Given the description of an element on the screen output the (x, y) to click on. 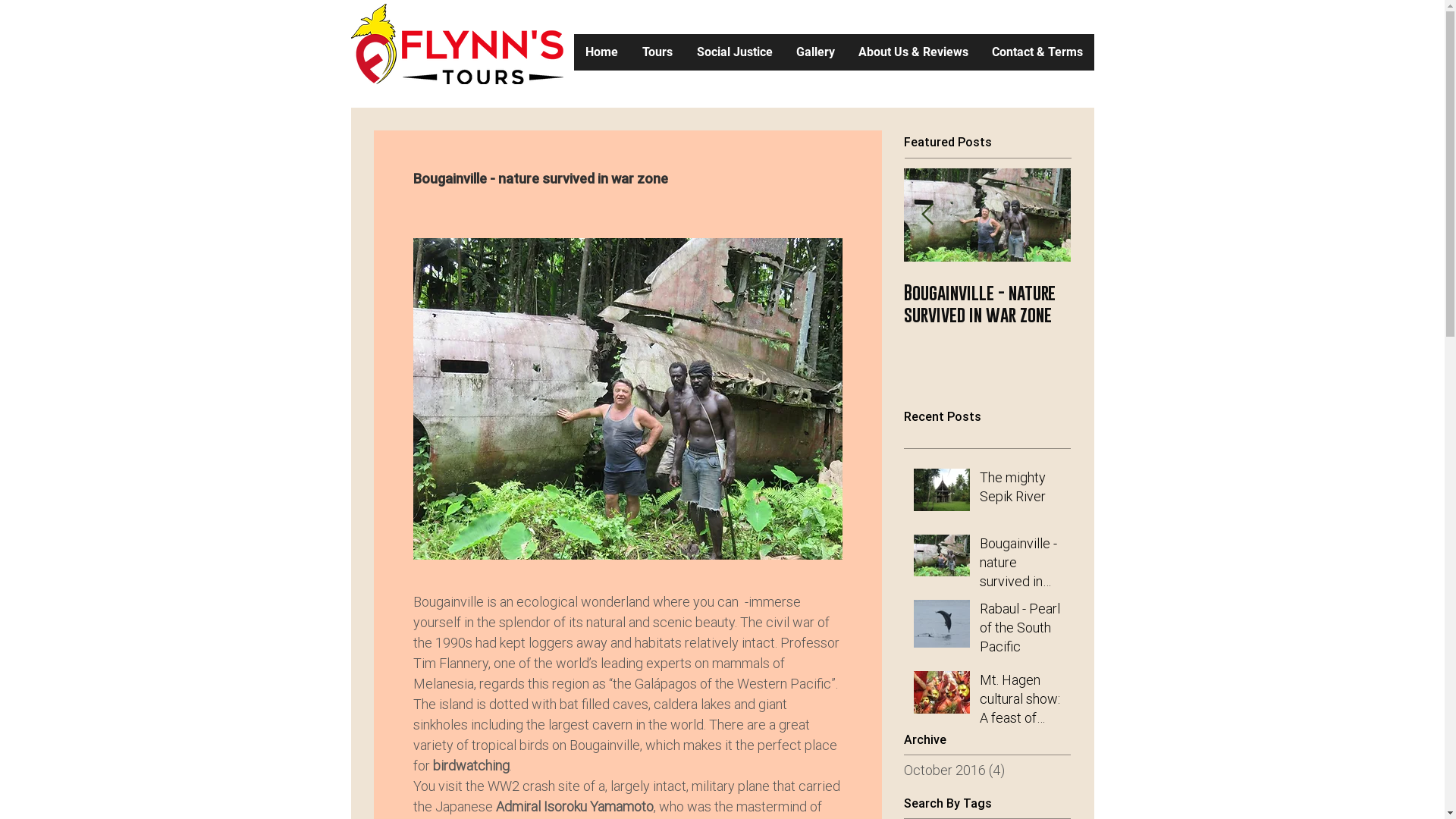
Rabaul - Pearl of the South Pacific Element type: text (1020, 630)
Bougainville - nature survived in war zone Element type: text (986, 303)
The mighty Sepik River Element type: text (820, 292)
Contact & Terms Element type: text (1036, 52)
About Us & Reviews Element type: text (912, 52)
Home Element type: text (601, 52)
The mighty Sepik River Element type: text (1020, 489)
Social Justice Element type: text (733, 52)
Bougainville - nature survived in war zone Element type: text (1020, 565)
October 2016 (4) Element type: text (983, 769)
Mt. Hagen cultural show: A feast of colour Element type: text (1020, 702)
